Given the description of an element on the screen output the (x, y) to click on. 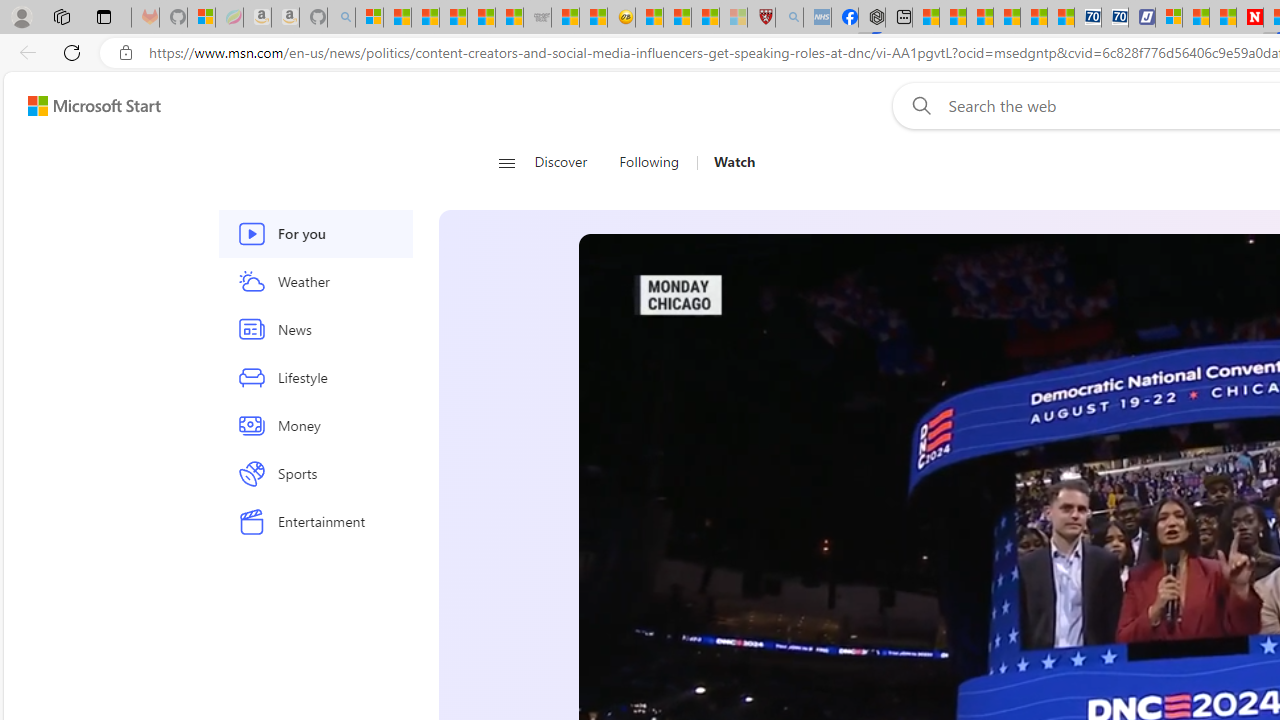
New Report Confirms 2023 Was Record Hot | Watch (481, 17)
The Weather Channel - MSN (425, 17)
